Given the description of an element on the screen output the (x, y) to click on. 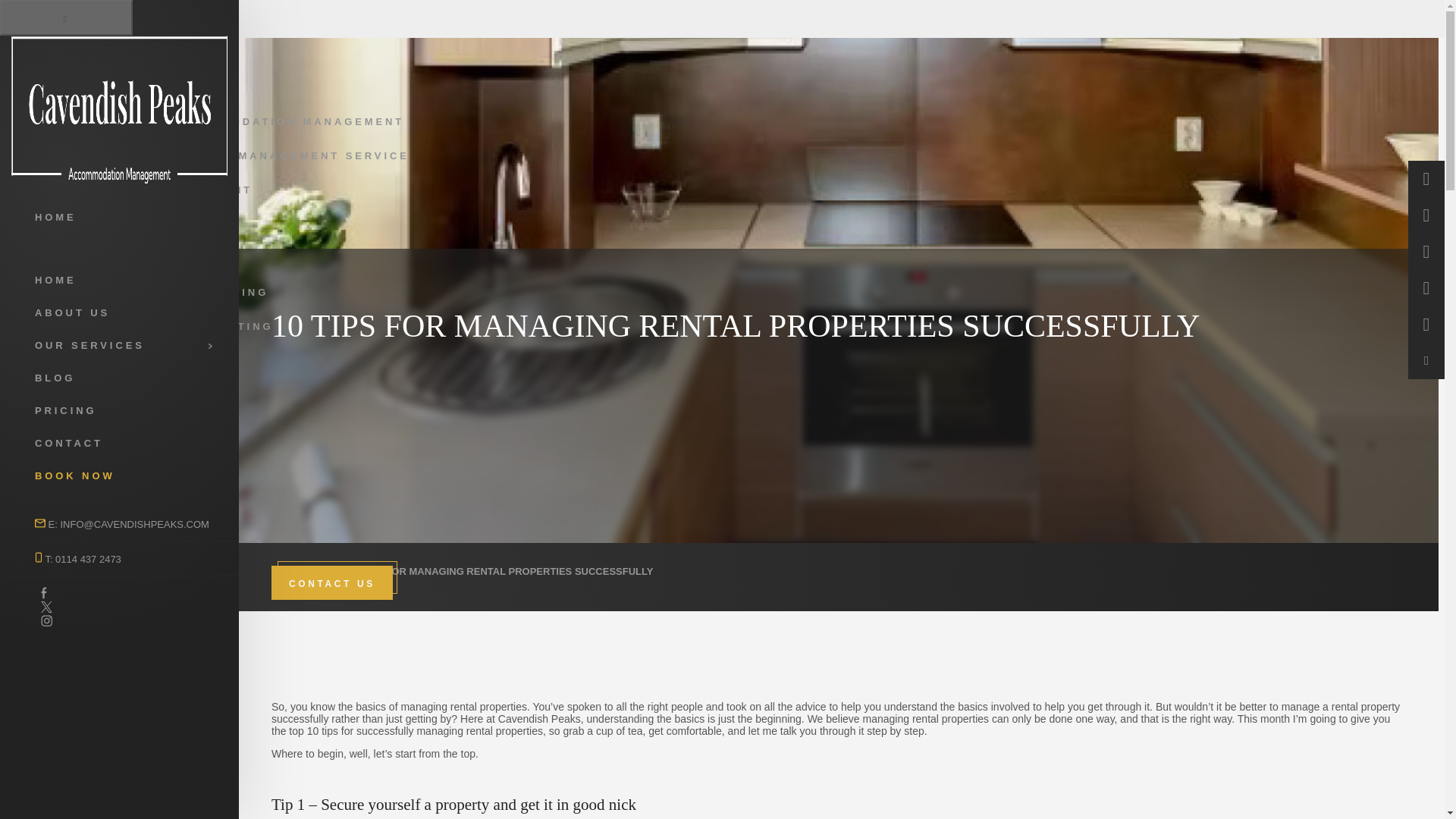
ABOUT US (124, 312)
BOOK NOW (76, 386)
HOME (57, 40)
ABOUT US (74, 52)
HOME (285, 571)
OUR SERVICES (124, 345)
CONTACT (70, 374)
BOOK NOW (124, 475)
HOME (124, 279)
BLOG (124, 377)
CONTACT (124, 442)
PRICING (66, 361)
T: 0114 437 2473 (124, 558)
BLOG (324, 571)
OUR SERVICES (91, 64)
